Given the description of an element on the screen output the (x, y) to click on. 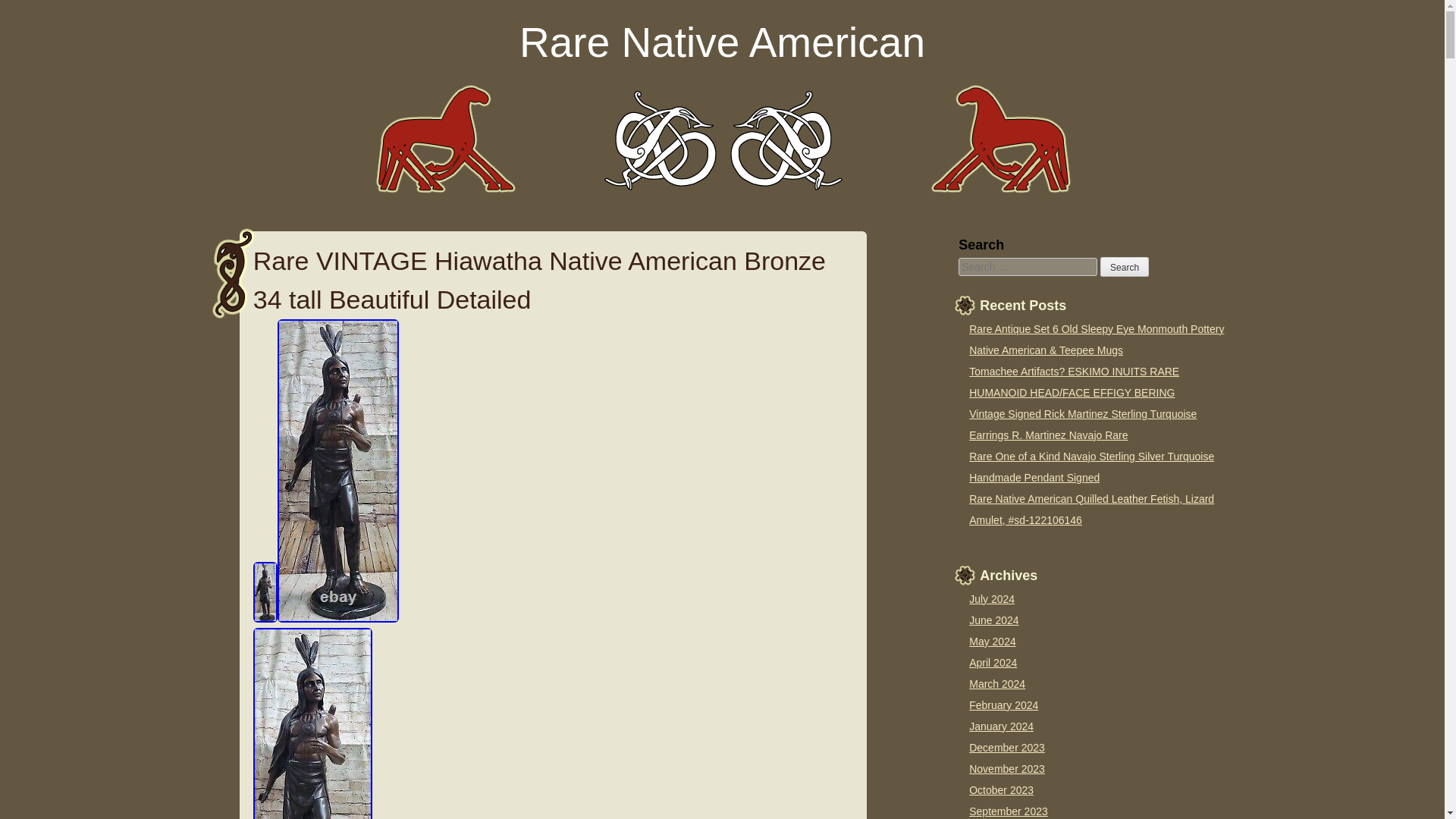
June 2024 (993, 620)
Skip to content (40, 20)
July 2024 (991, 598)
Search (1124, 266)
Search (1124, 266)
Rare Native American (721, 42)
Search (1124, 266)
